Given the description of an element on the screen output the (x, y) to click on. 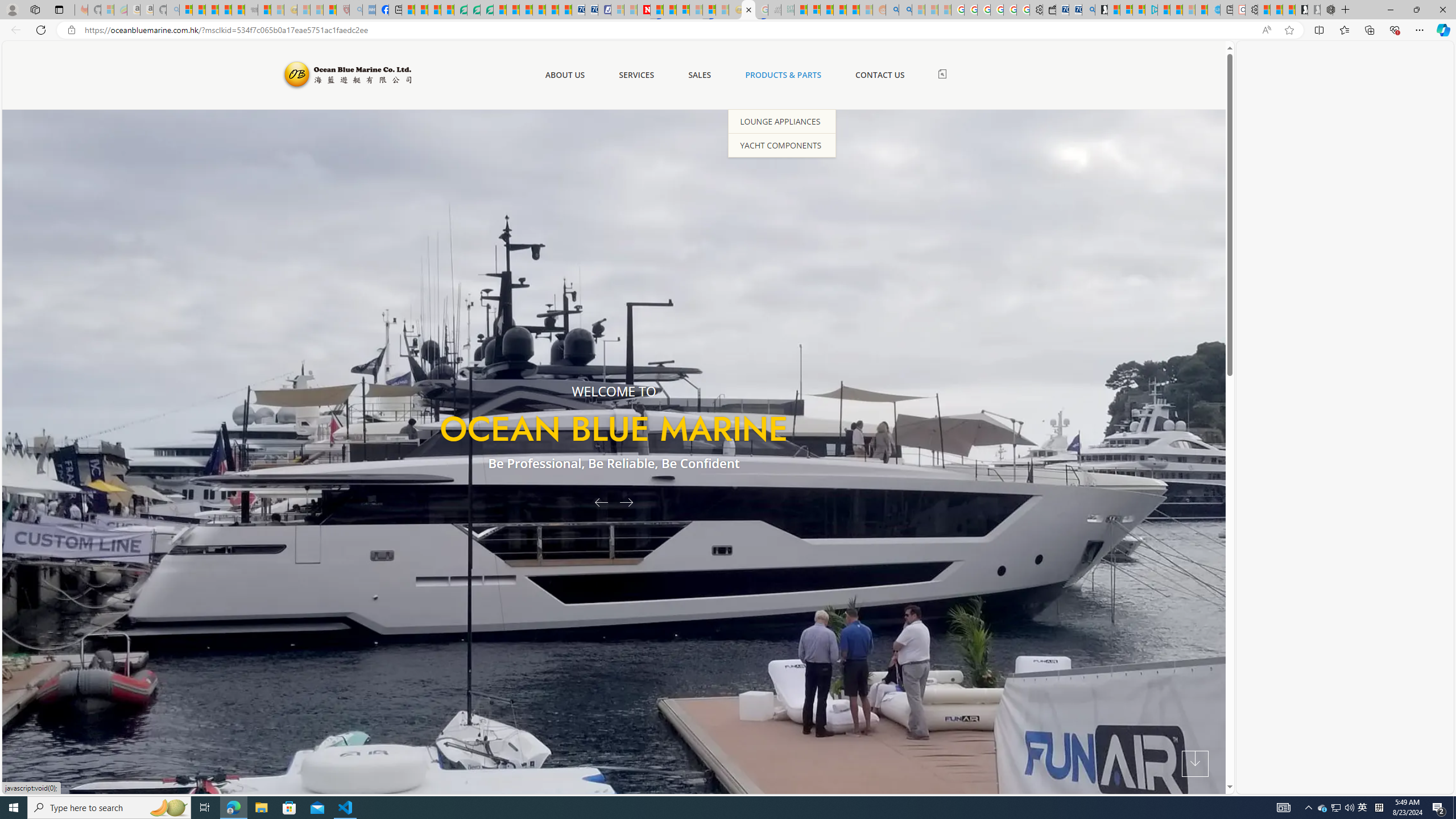
The Weather Channel - MSN (212, 9)
Ocean Blue Marine (345, 74)
Robert H. Shmerling, MD - Harvard Health - Sleeping (342, 9)
SERVICES (636, 75)
Microsoft Start - Sleeping (1188, 9)
World - MSN (434, 9)
Recipes - MSN - Sleeping (303, 9)
PRODUCTS & PARTS (783, 75)
